Given the description of an element on the screen output the (x, y) to click on. 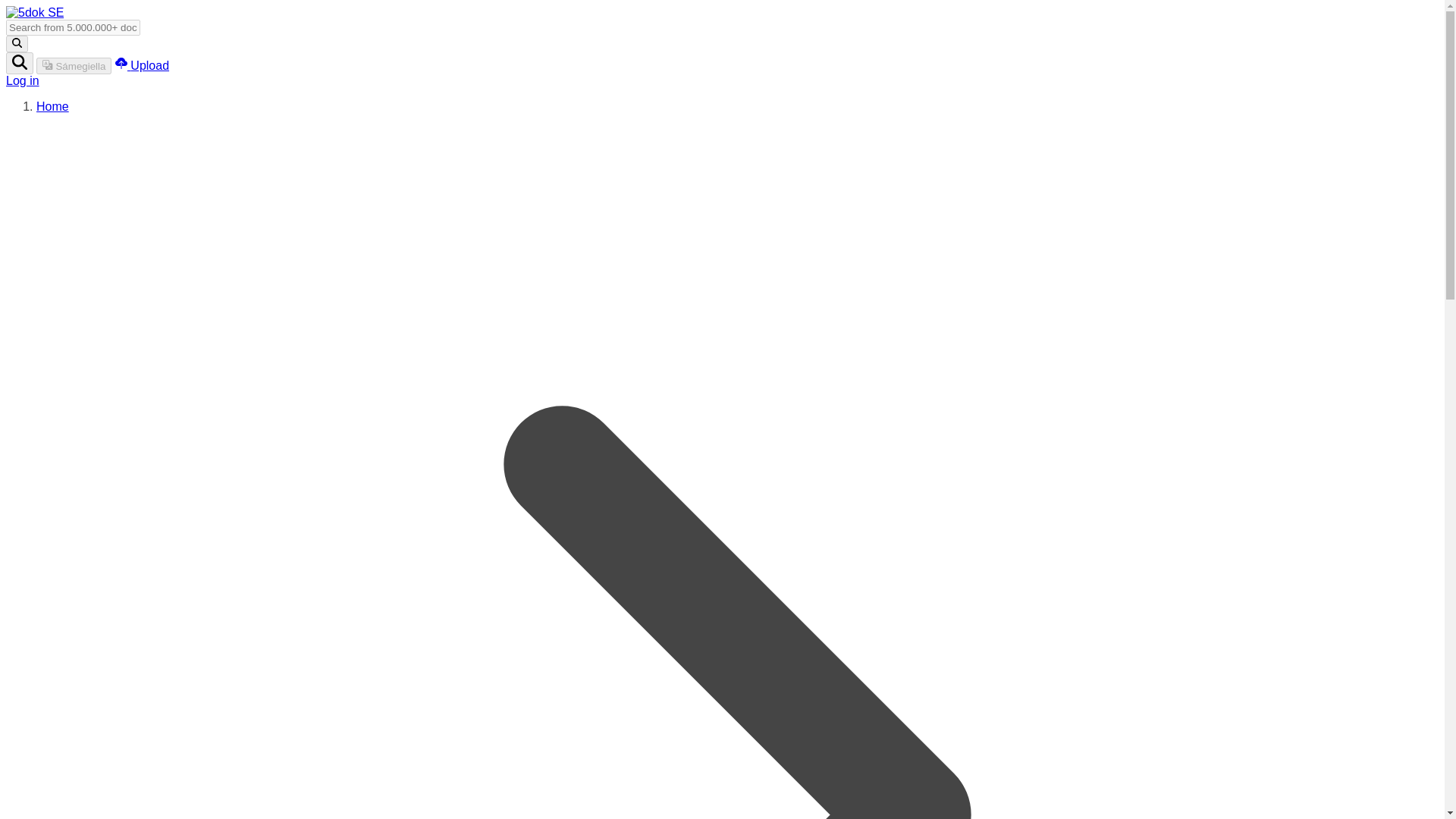
Log in (22, 80)
Search (19, 63)
Home (52, 106)
Search (16, 44)
Upload (141, 65)
